Given the description of an element on the screen output the (x, y) to click on. 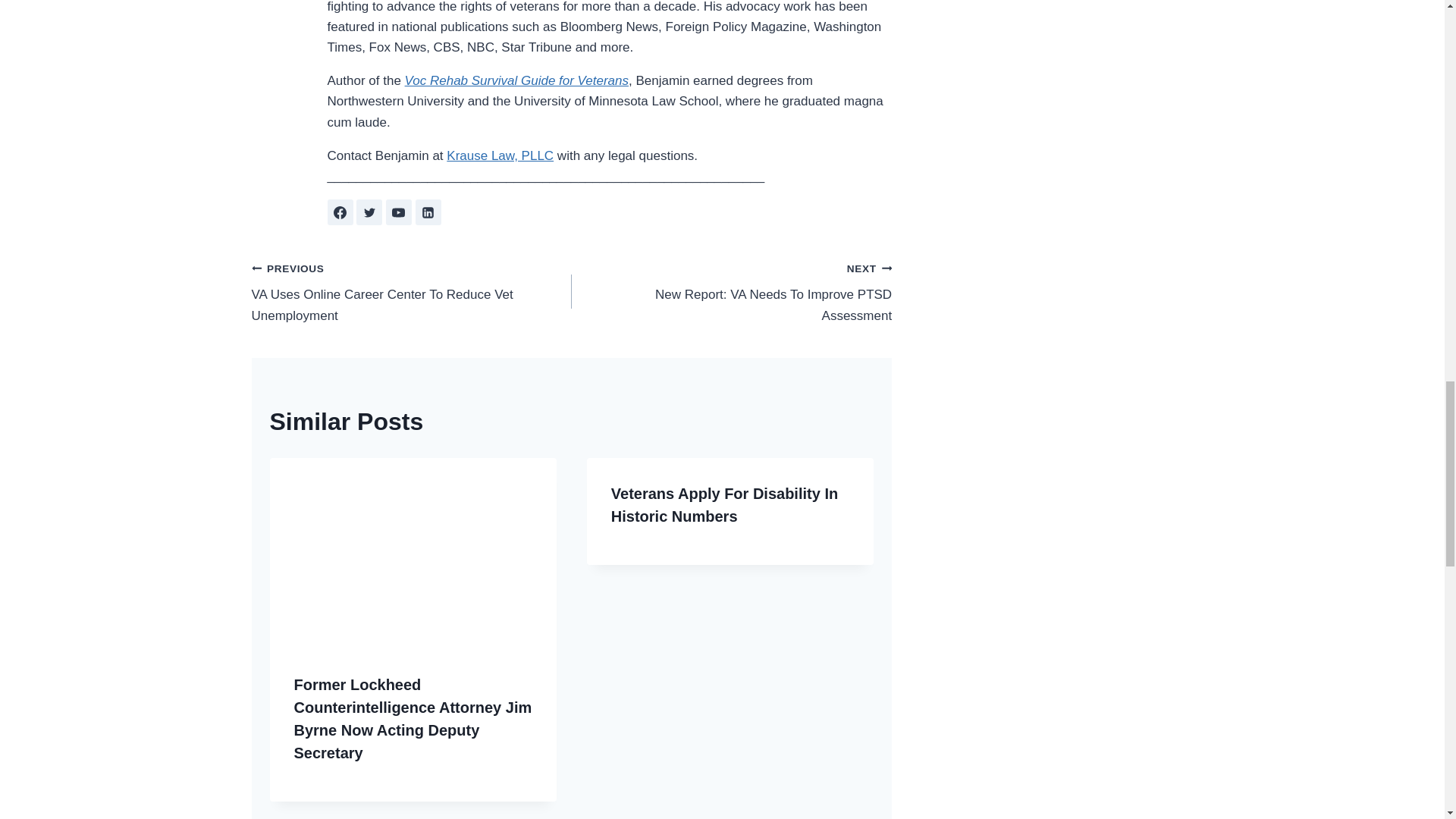
Follow Benjamin Krause on Youtube (398, 212)
Voc Rehab Survival Guide for Veterans (731, 291)
Follow Benjamin Krause on Twitter (516, 80)
Follow Benjamin Krause on Facebook (368, 212)
Follow Benjamin Krause on Linkedin (340, 212)
Krause Law, PLLC (427, 212)
